Given the description of an element on the screen output the (x, y) to click on. 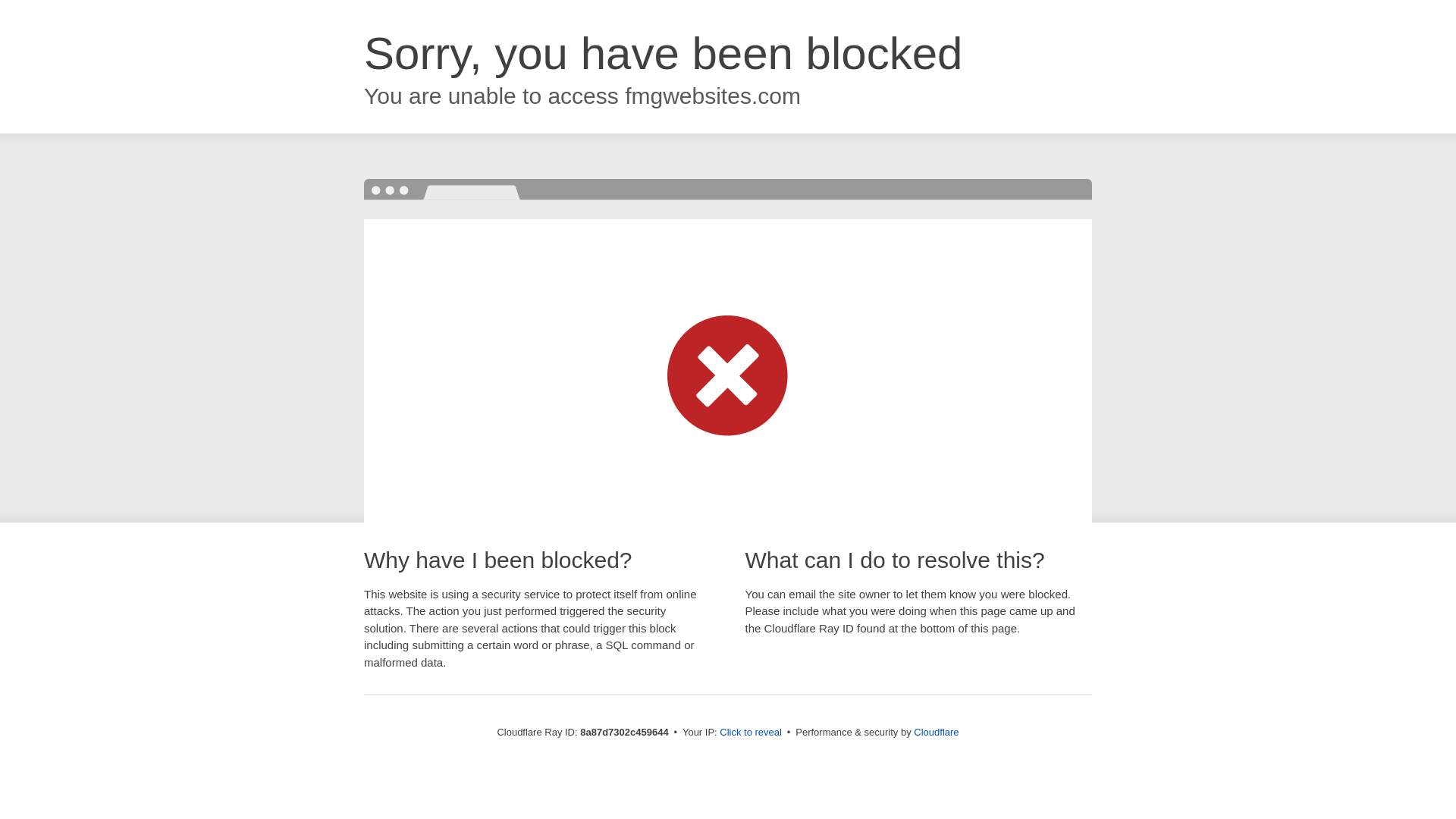
Click to reveal (750, 732)
Cloudflare (936, 731)
